Given the description of an element on the screen output the (x, y) to click on. 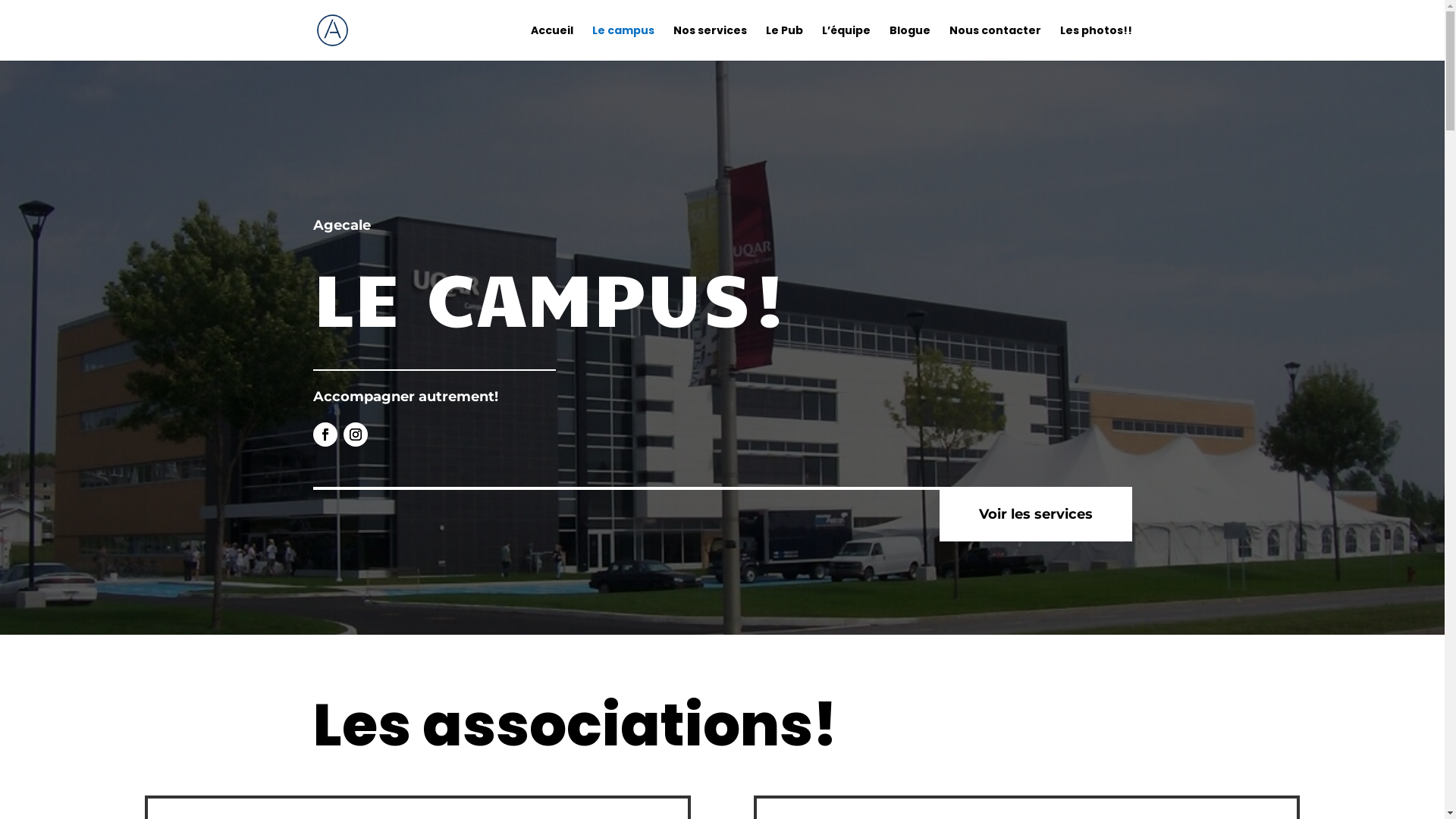
Nos services Element type: text (709, 42)
Blogue Element type: text (908, 42)
Voir les services Element type: text (1034, 514)
Le Pub Element type: text (784, 42)
Accueil Element type: text (551, 42)
Le campus Element type: text (622, 42)
Les photos!! Element type: text (1096, 42)
Follow on Instagram Element type: hover (354, 434)
Nous contacter Element type: text (995, 42)
Follow on Facebook Element type: hover (324, 434)
